Given the description of an element on the screen output the (x, y) to click on. 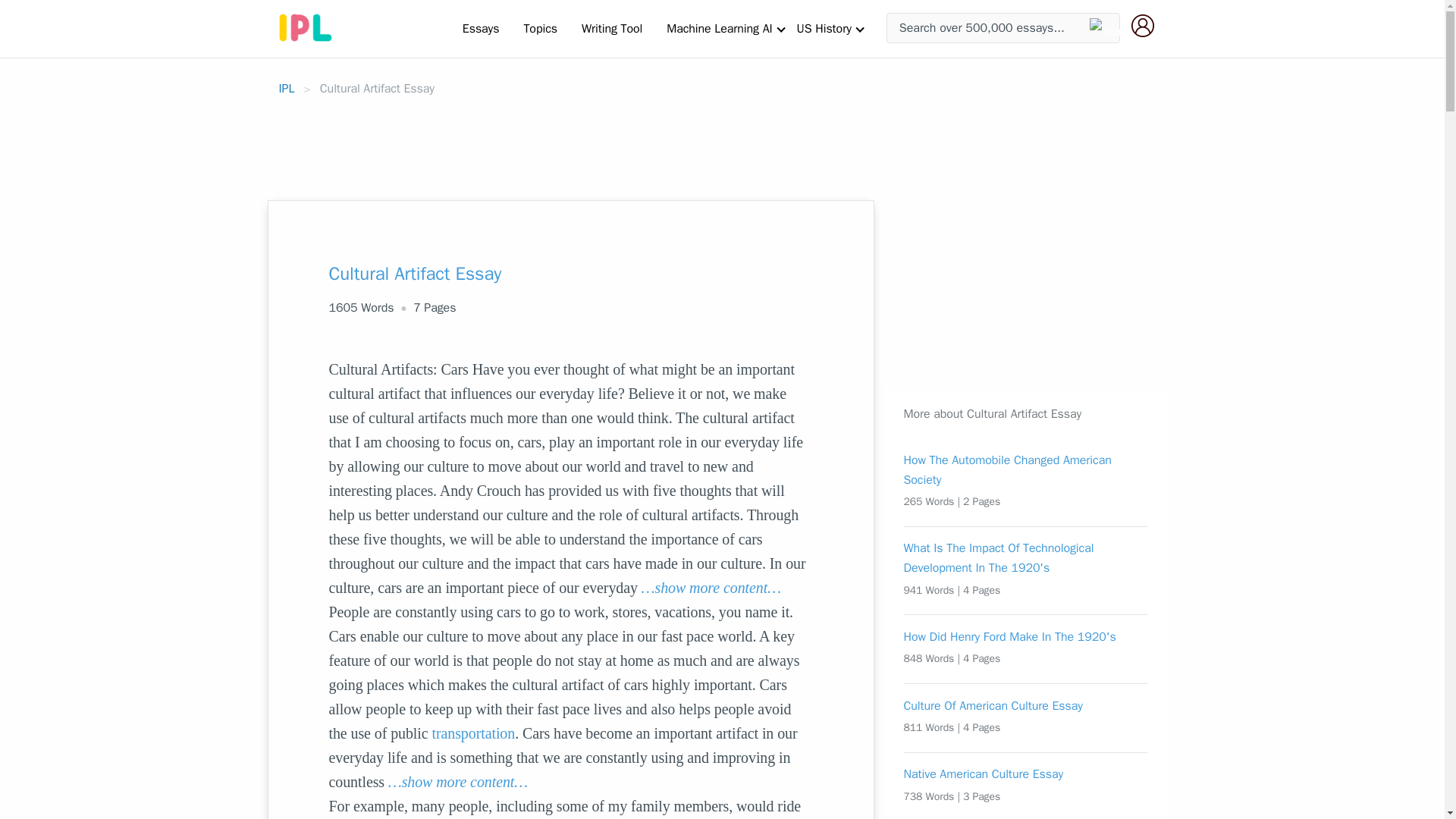
Topics (540, 28)
US History (823, 28)
Essays (480, 28)
transportation (472, 733)
Machine Learning AI (718, 28)
IPL (287, 88)
Writing Tool (611, 28)
